Given the description of an element on the screen output the (x, y) to click on. 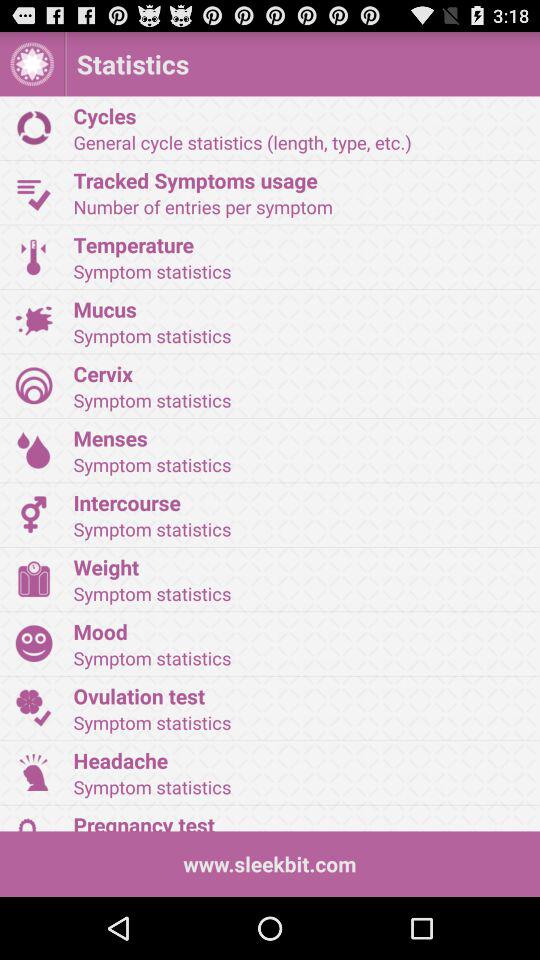
turn on the app below symptom statistics icon (299, 820)
